Given the description of an element on the screen output the (x, y) to click on. 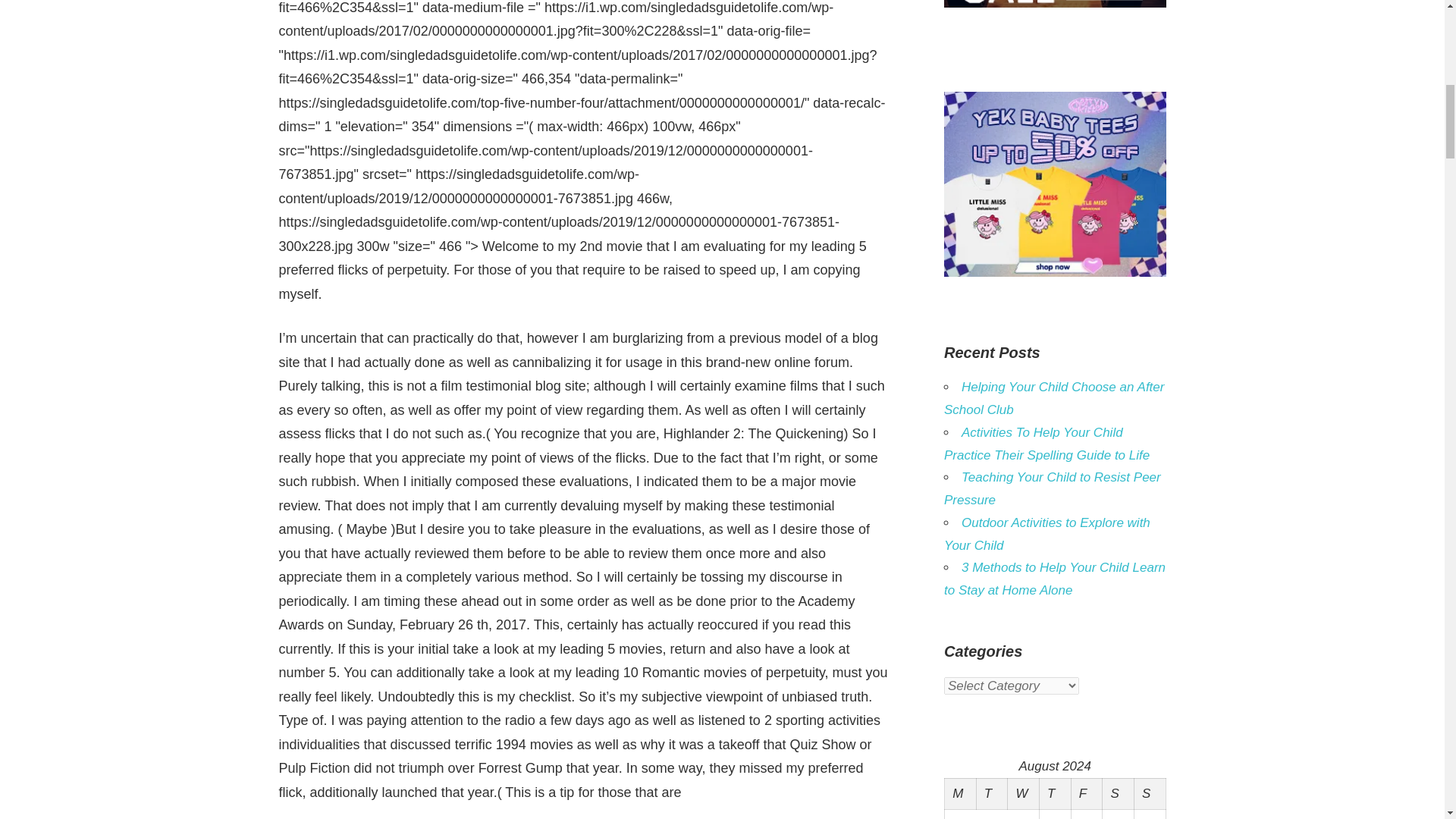
Monday (960, 793)
Outdoor Activities to Explore with Your Child (1046, 533)
Helping Your Child Choose an After School Club (1053, 398)
Saturday (1118, 793)
Teaching Your Child to Resist Peer Pressure (1051, 488)
Sunday (1150, 793)
Friday (1086, 793)
gym shirts (1054, 5)
Tuesday (991, 793)
3 Methods to Help Your Child Learn to Stay at Home Alone (1054, 578)
baby tees (1054, 272)
Wednesday (1023, 793)
Thursday (1054, 793)
